Given the description of an element on the screen output the (x, y) to click on. 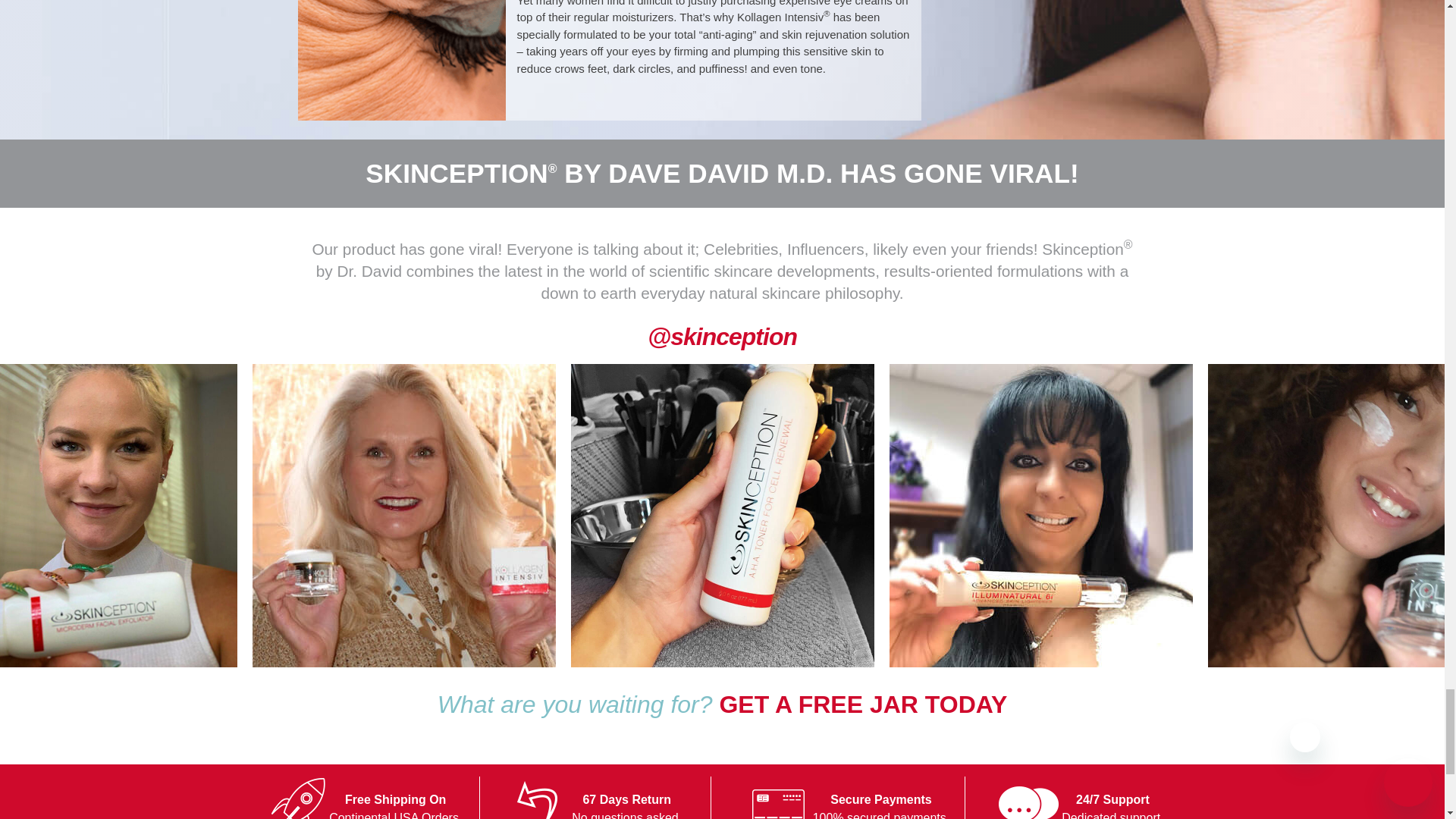
GET A FREE JAR TODAY (863, 704)
